Given the description of an element on the screen output the (x, y) to click on. 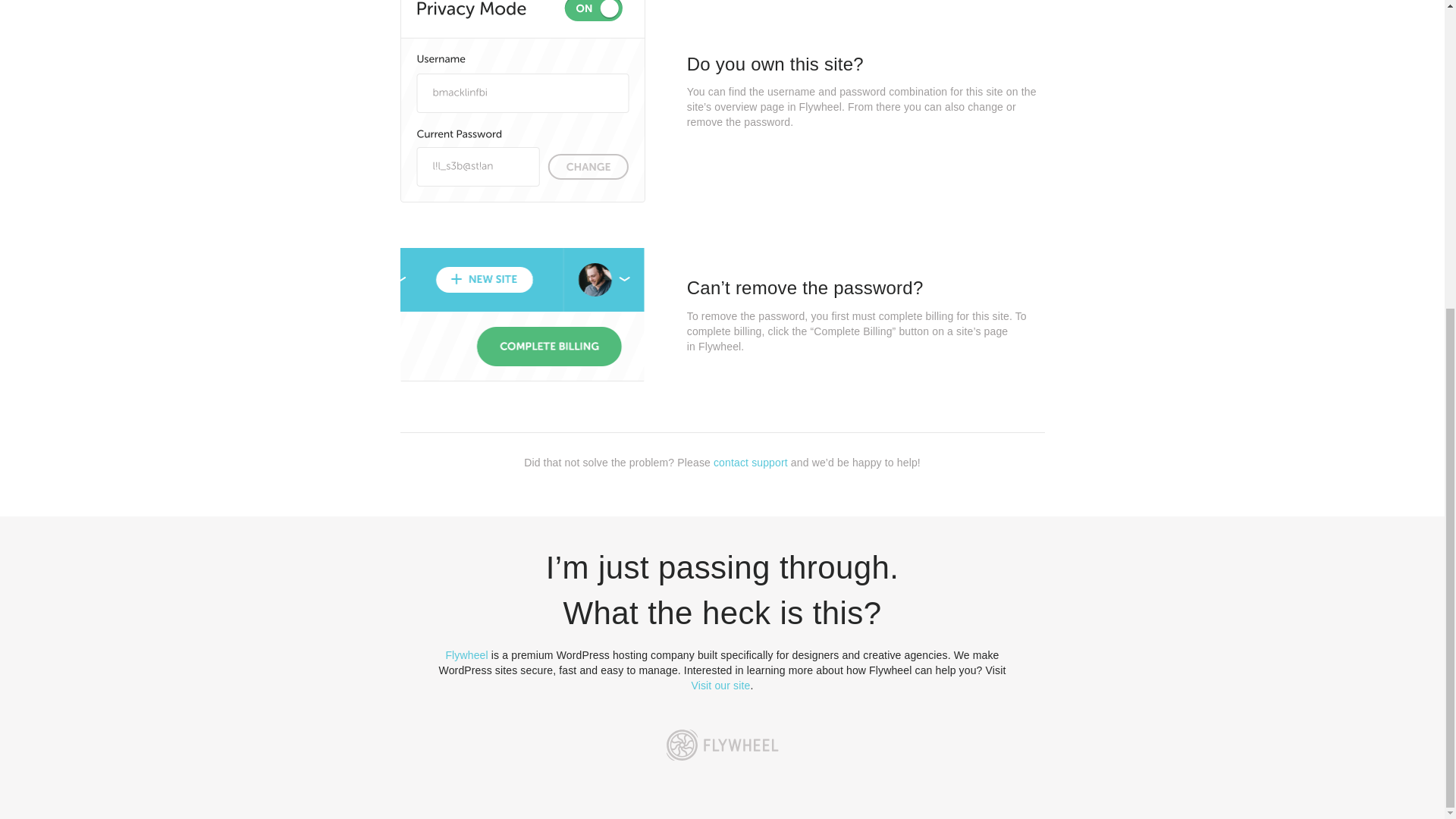
Flywheel (466, 654)
Visit our site (721, 685)
contact support (750, 462)
